Given the description of an element on the screen output the (x, y) to click on. 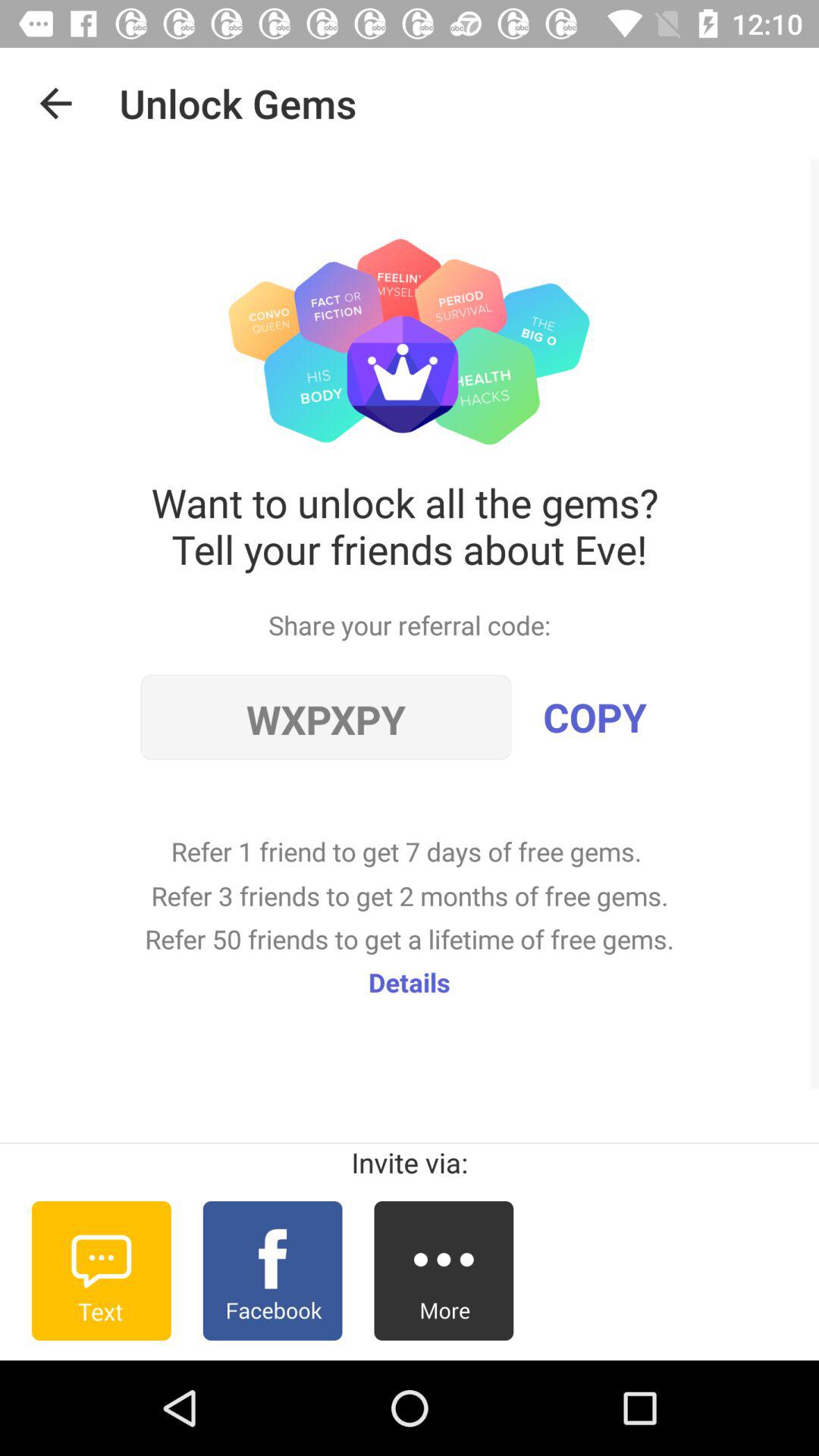
text link (101, 1270)
